Given the description of an element on the screen output the (x, y) to click on. 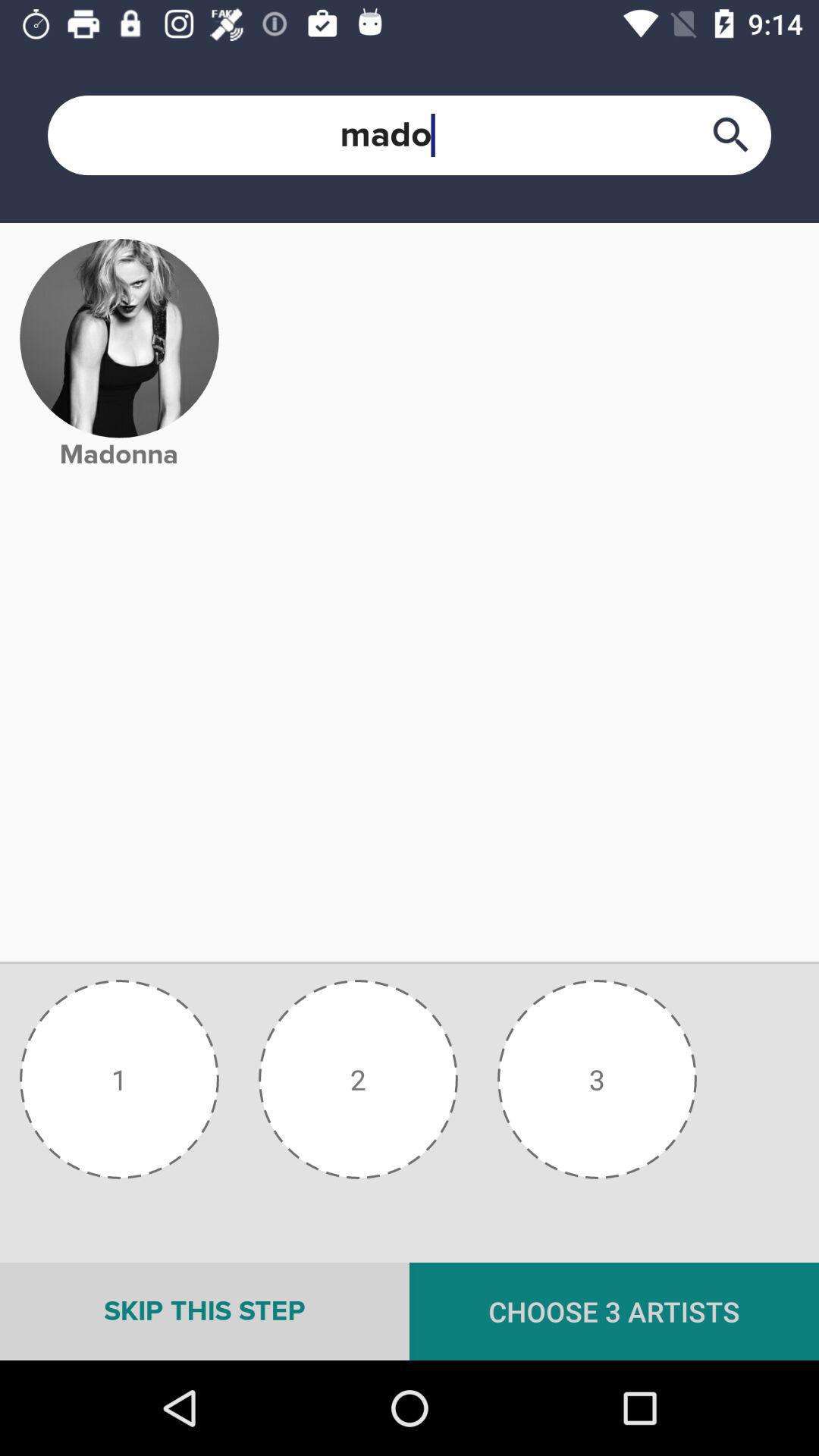
turn on item to the left of choose 3 artists icon (204, 1311)
